Given the description of an element on the screen output the (x, y) to click on. 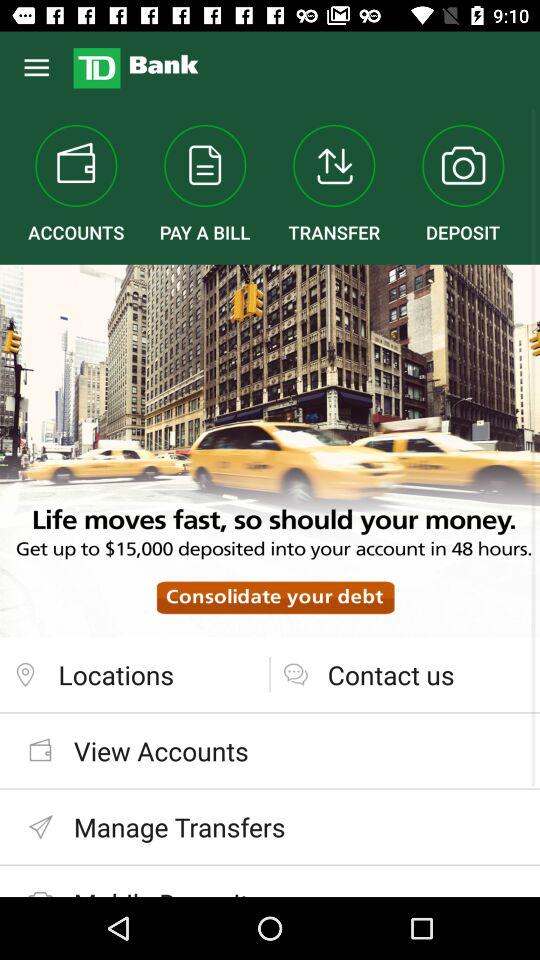
choose the icon above the locations icon (270, 450)
